Given the description of an element on the screen output the (x, y) to click on. 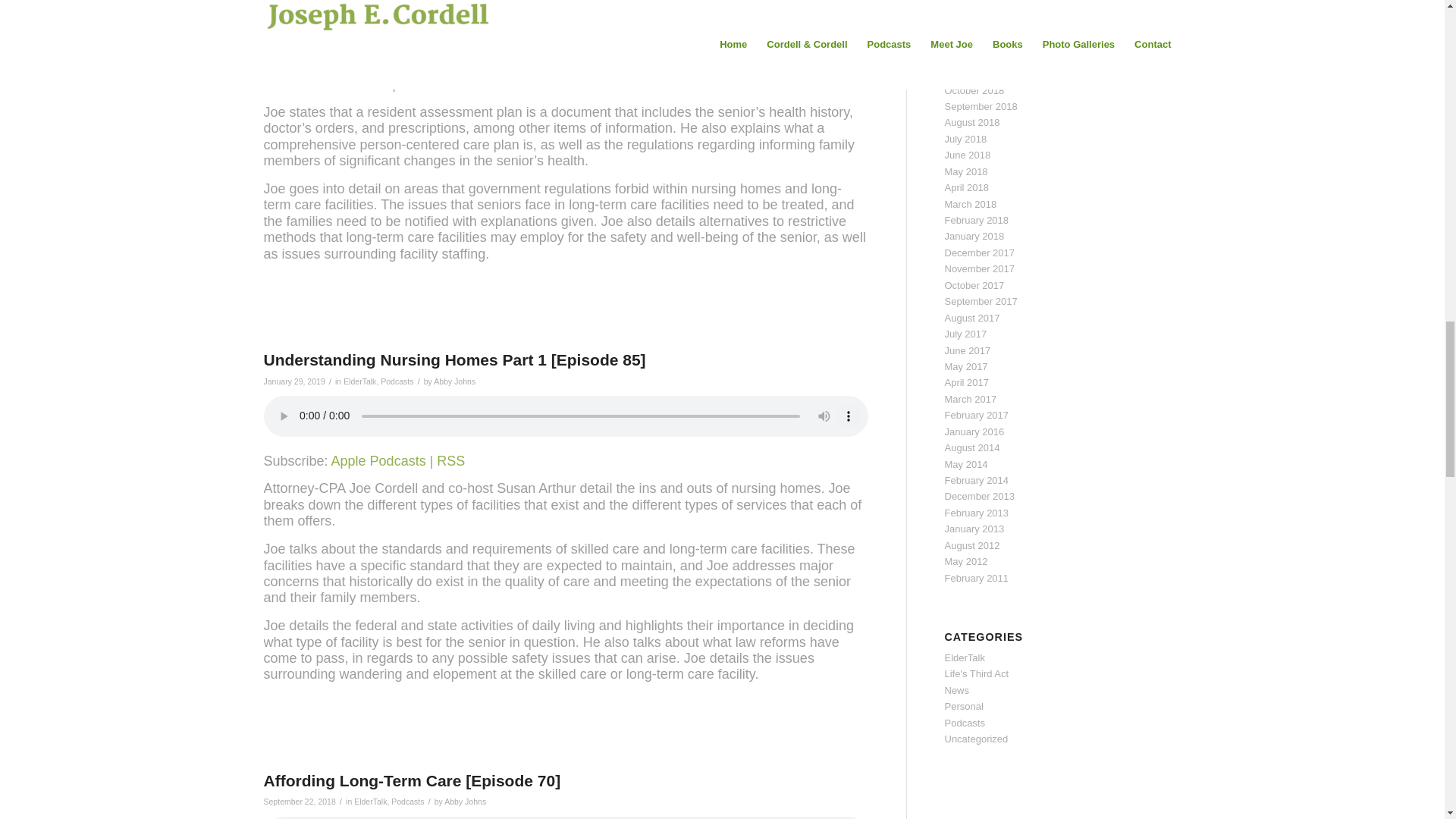
ElderTalk (359, 380)
RSS (450, 7)
Podcasts (396, 380)
Subscribe on Apple Podcasts (378, 7)
Apple Podcasts (378, 7)
Subscribe via RSS (450, 7)
